Given the description of an element on the screen output the (x, y) to click on. 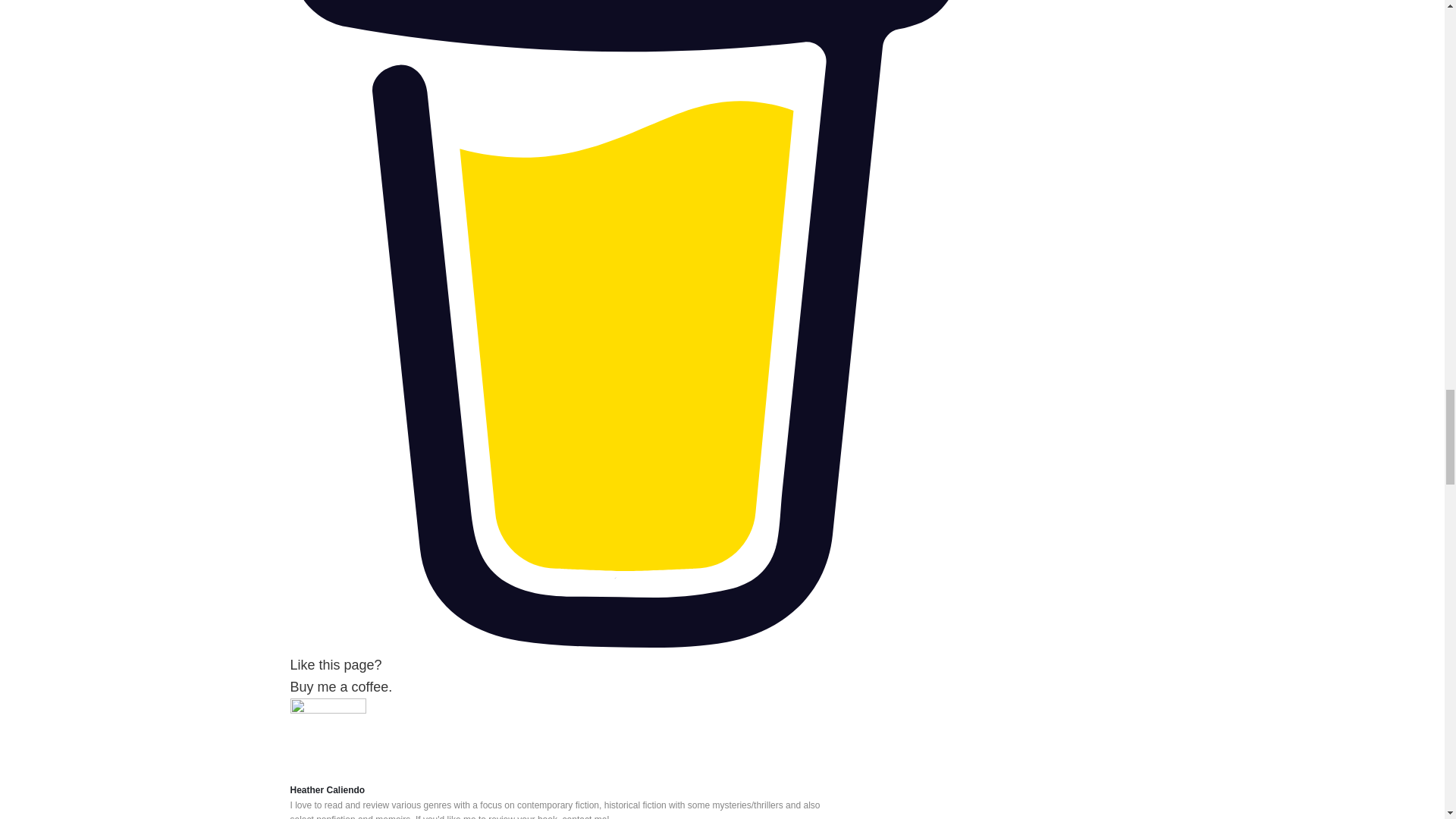
Heather Caliendo (624, 667)
